Given the description of an element on the screen output the (x, y) to click on. 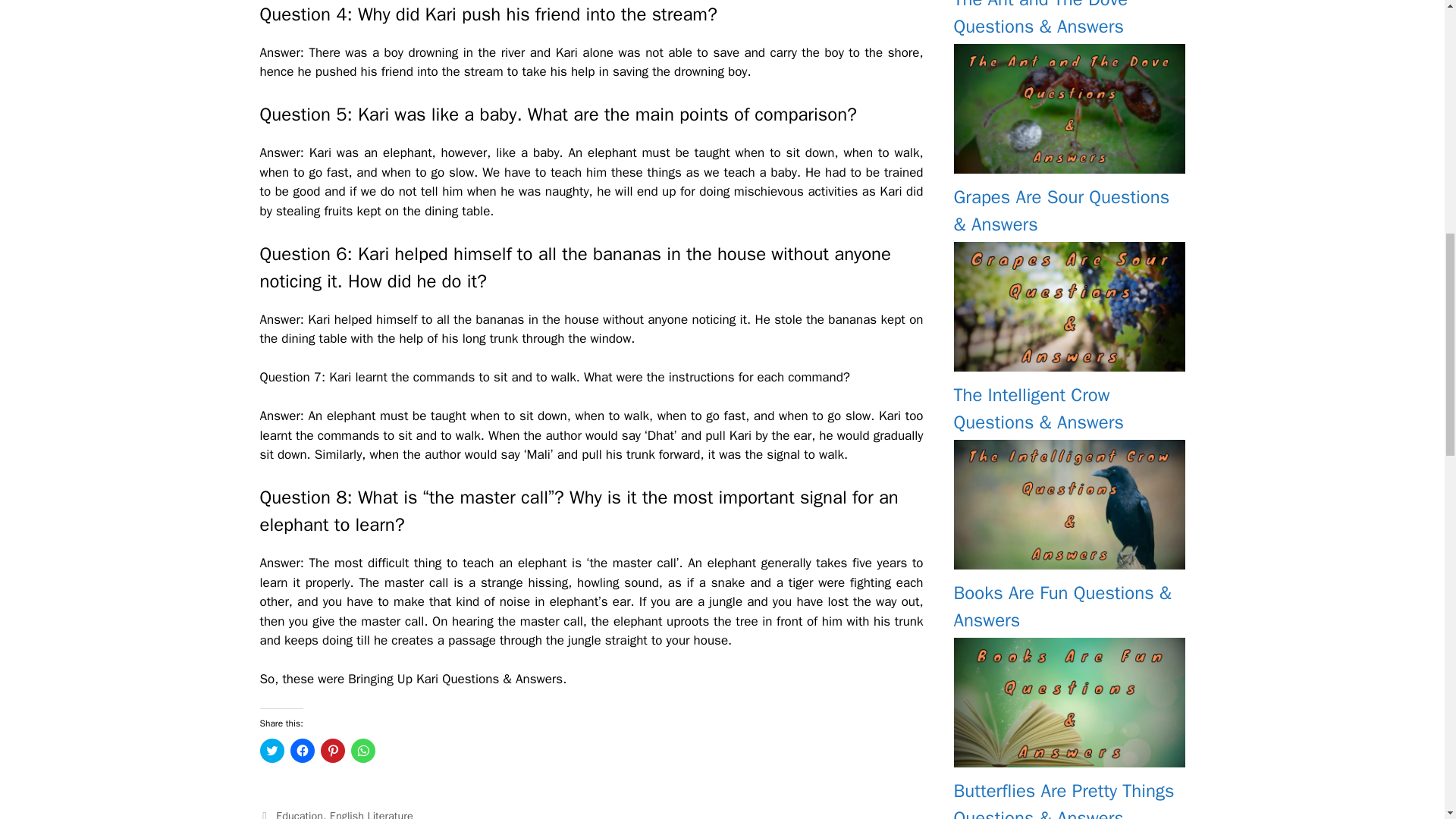
English Literature (371, 814)
Click to share on Twitter (271, 750)
Click to share on WhatsApp (362, 750)
Click to share on Pinterest (331, 750)
Click to share on Facebook (301, 750)
Education (299, 814)
